Given the description of an element on the screen output the (x, y) to click on. 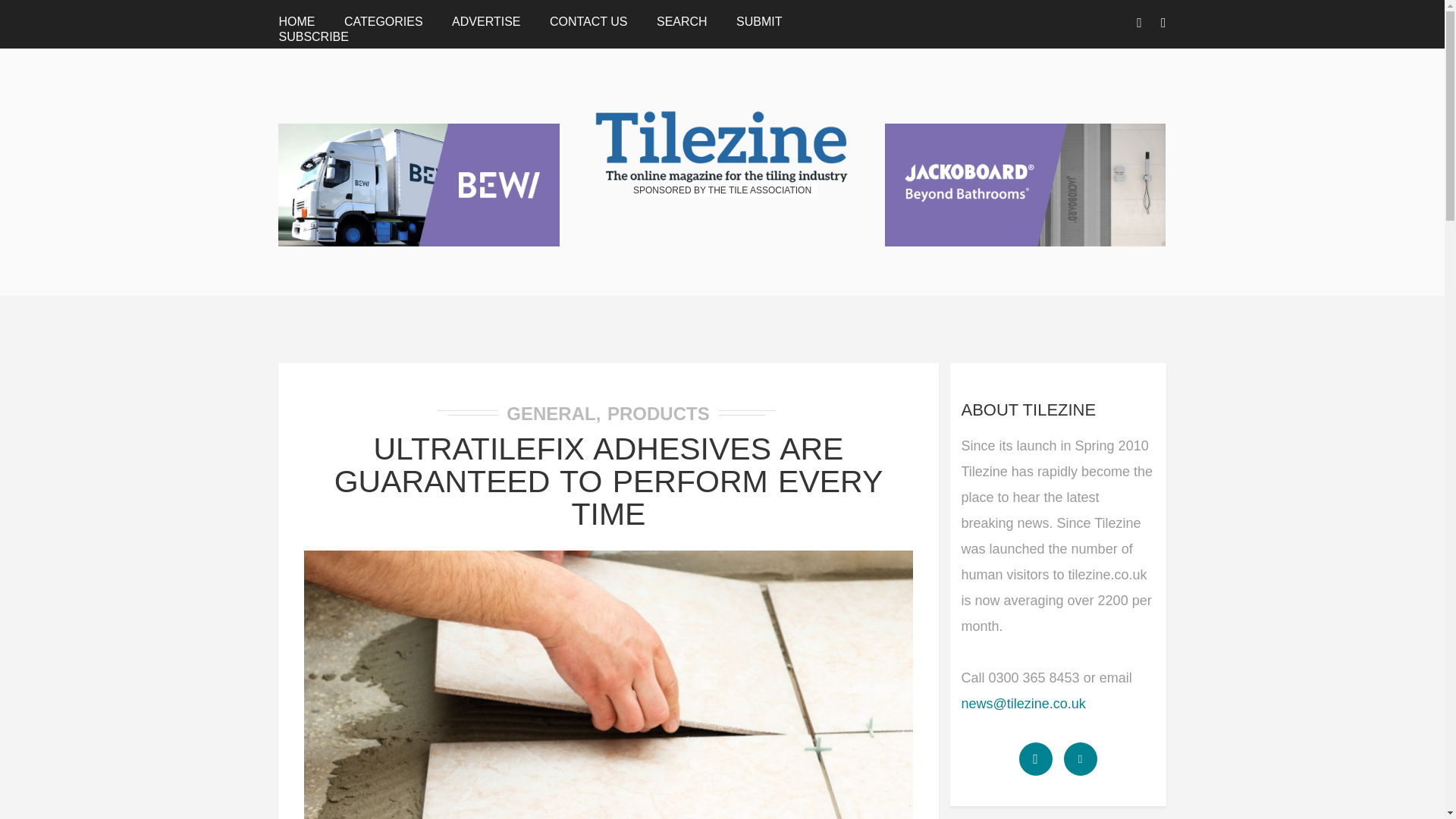
CATEGORIES (383, 21)
CONTACT US (588, 21)
GENERAL (550, 413)
SUBSCRIBE (312, 37)
HOME (296, 21)
SEARCH (681, 21)
SUBMIT (758, 21)
ADVERTISE (485, 21)
PRODUCTS (658, 413)
